Given the description of an element on the screen output the (x, y) to click on. 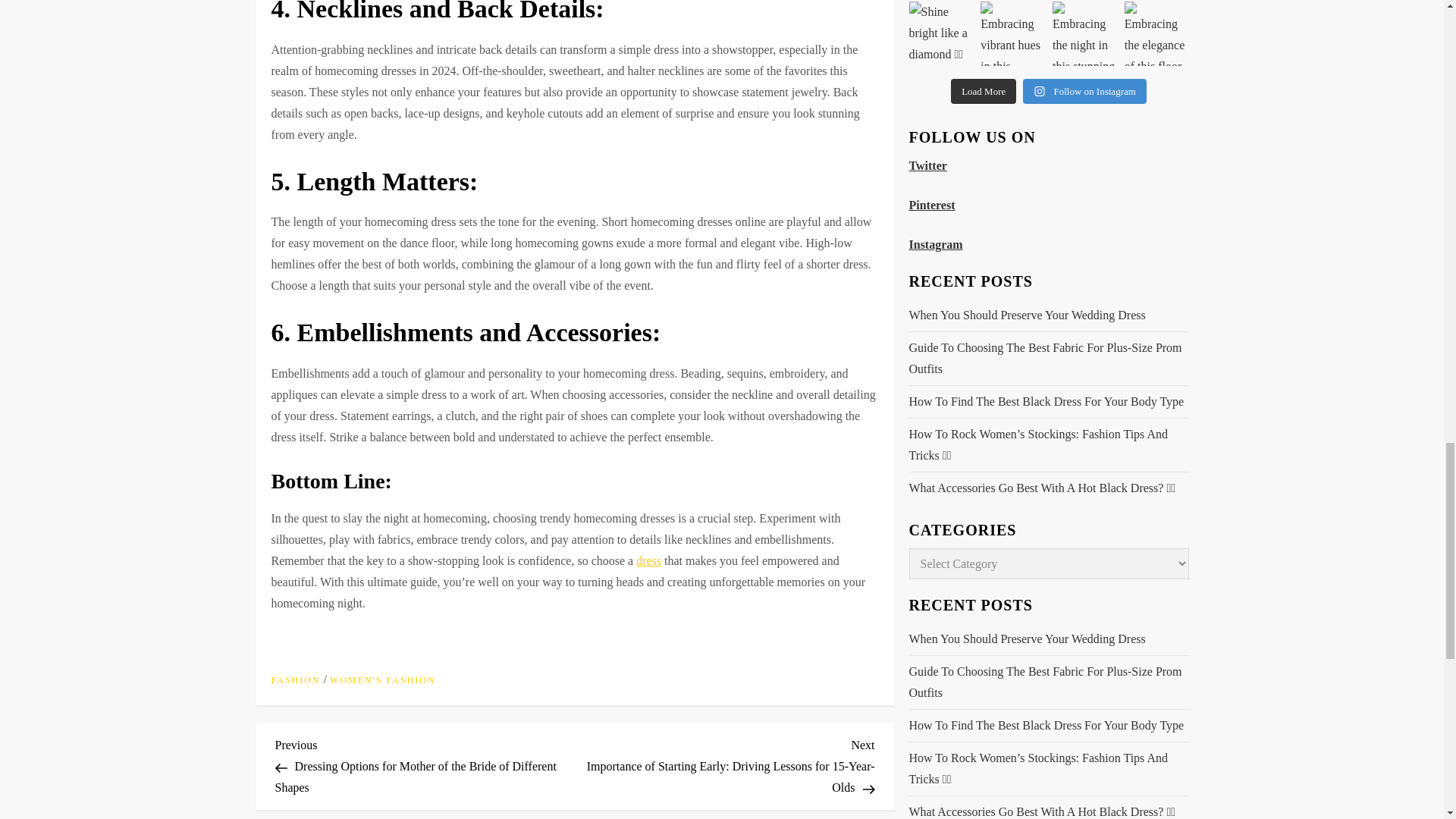
dress (648, 560)
FASHION (295, 680)
WOMEN'S FASHION (382, 680)
